Given the description of an element on the screen output the (x, y) to click on. 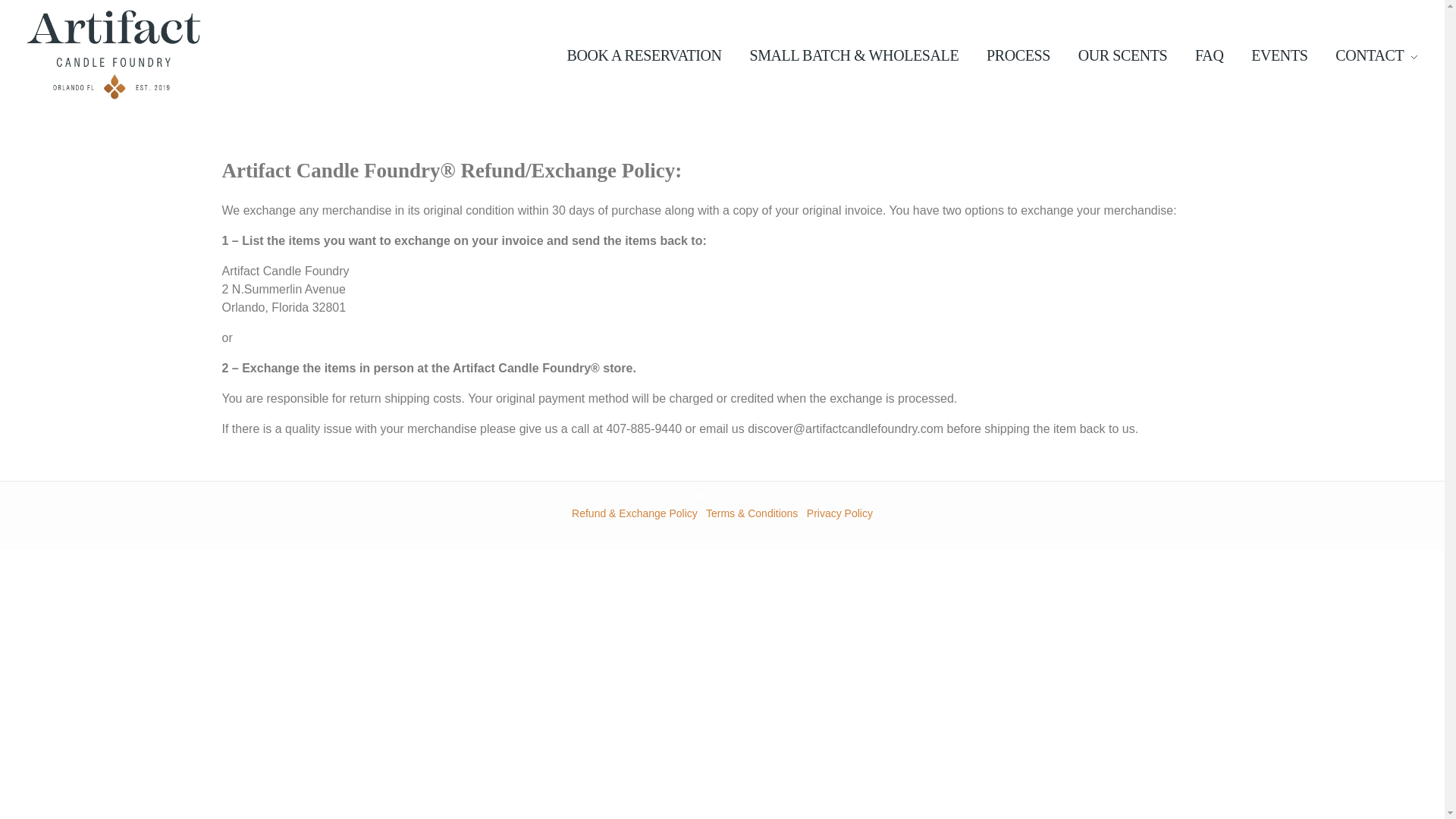
PROCESS (1018, 54)
CONTACT (1370, 54)
OUR SCENTS (1122, 54)
BOOK A RESERVATION (650, 54)
Privacy Policy (839, 512)
